Given the description of an element on the screen output the (x, y) to click on. 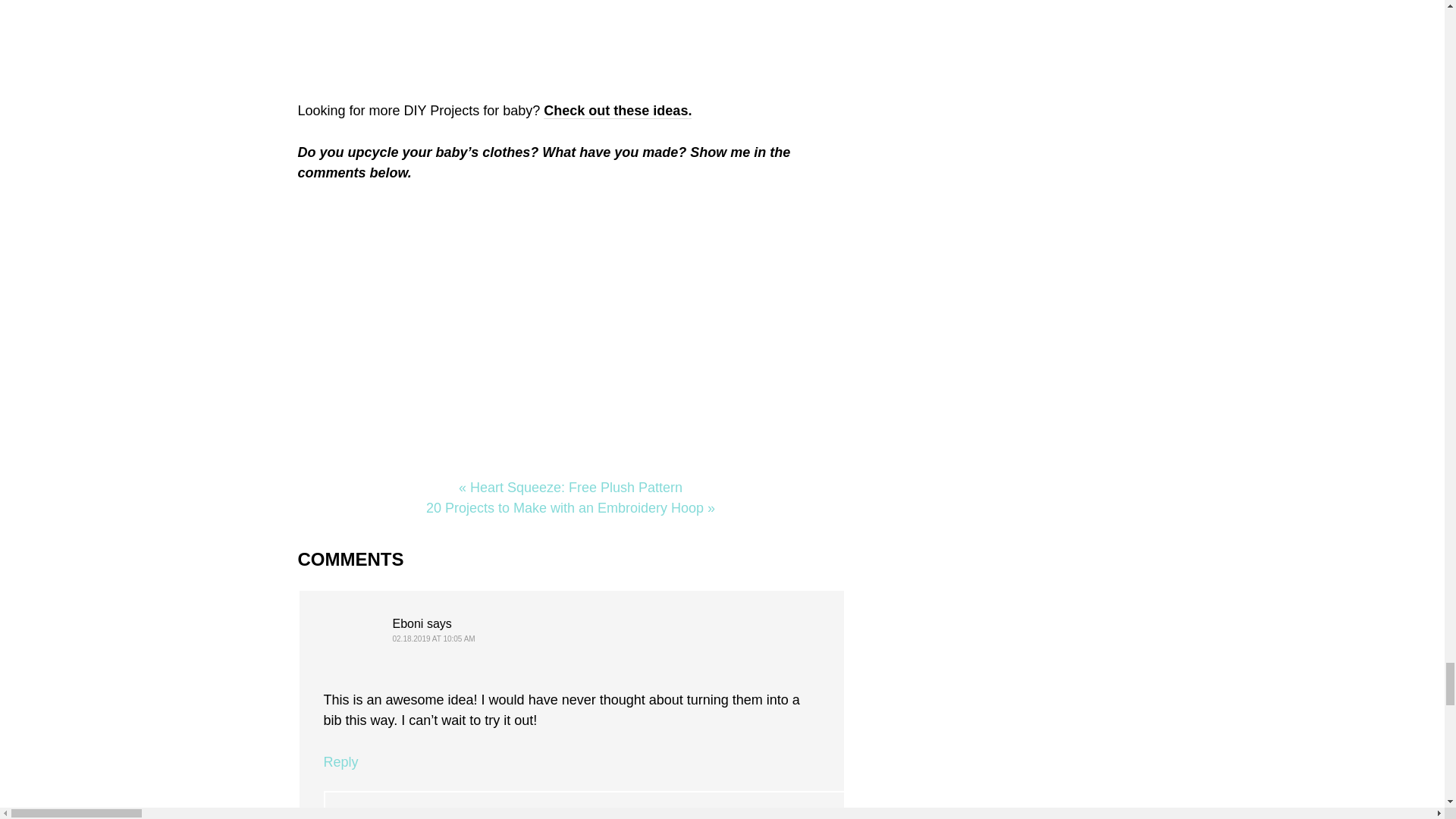
Reply (340, 761)
02.18.2019 AT 10:05 AM (434, 638)
Check out these ideas. (617, 110)
